Given the description of an element on the screen output the (x, y) to click on. 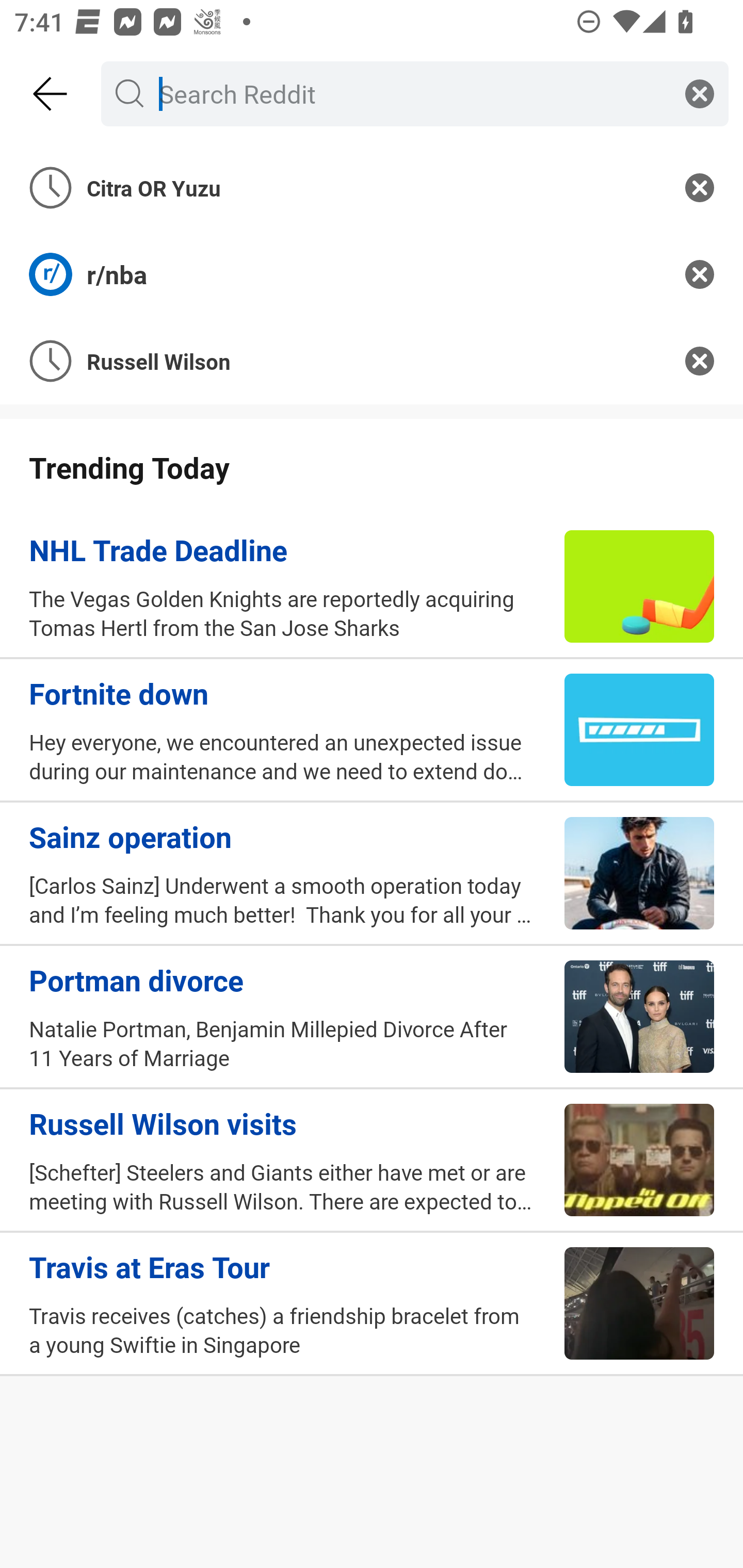
Back (50, 93)
Search Reddit (410, 93)
Clear search (699, 93)
Citra OR Yuzu Recent search: Citra OR Yuzu Remove (371, 187)
Remove (699, 187)
r/nba Recent search: r/nba Remove (371, 274)
Remove (699, 274)
Remove (699, 361)
